Given the description of an element on the screen output the (x, y) to click on. 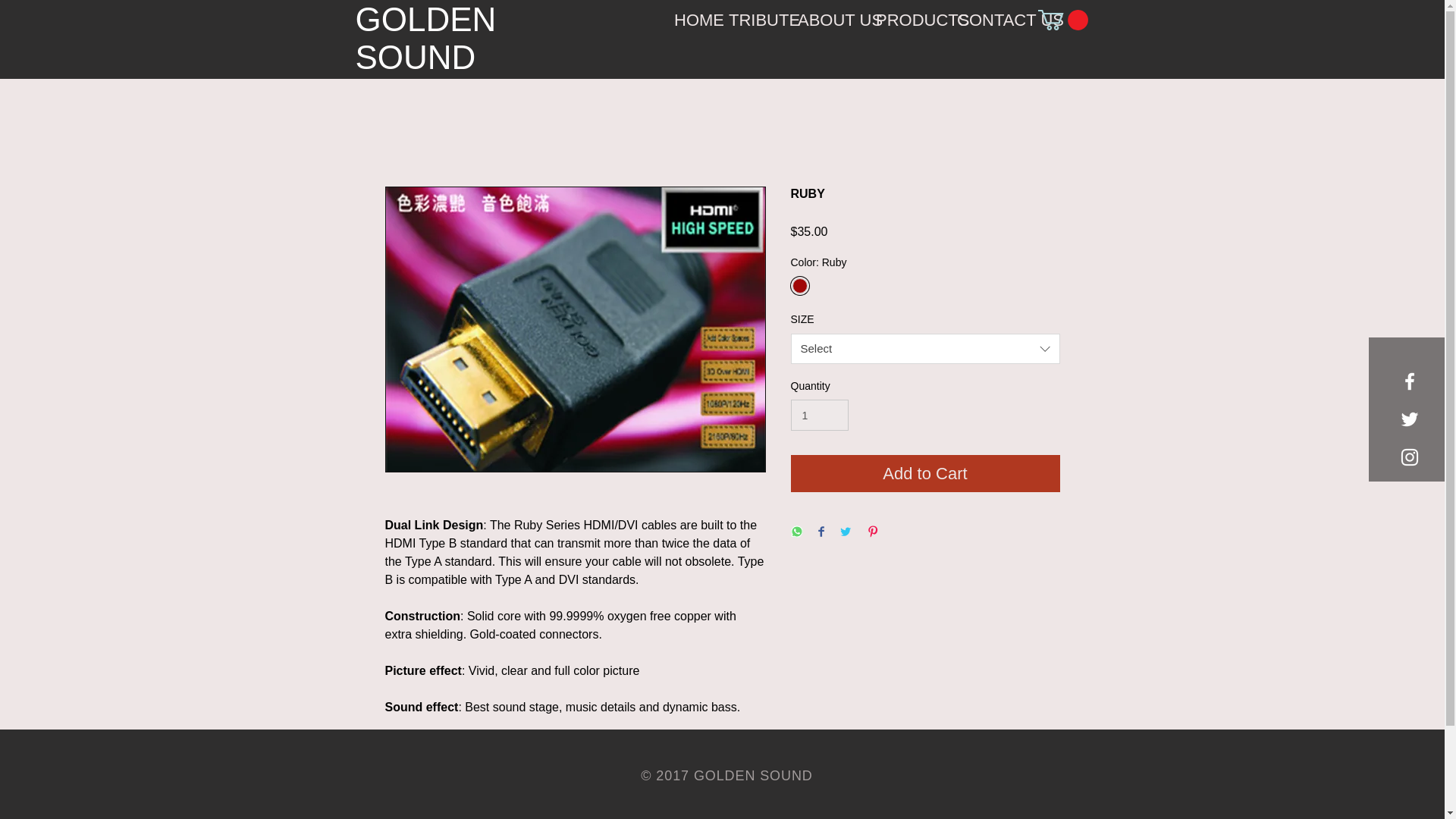
ABOUT US (825, 20)
Add to Cart (924, 473)
Select (924, 348)
1 (818, 414)
PRODUCTS (904, 20)
TRIBUTE (751, 20)
GOLDEN SOUND (425, 38)
HOME (689, 20)
CONTACT US (990, 20)
